Given the description of an element on the screen output the (x, y) to click on. 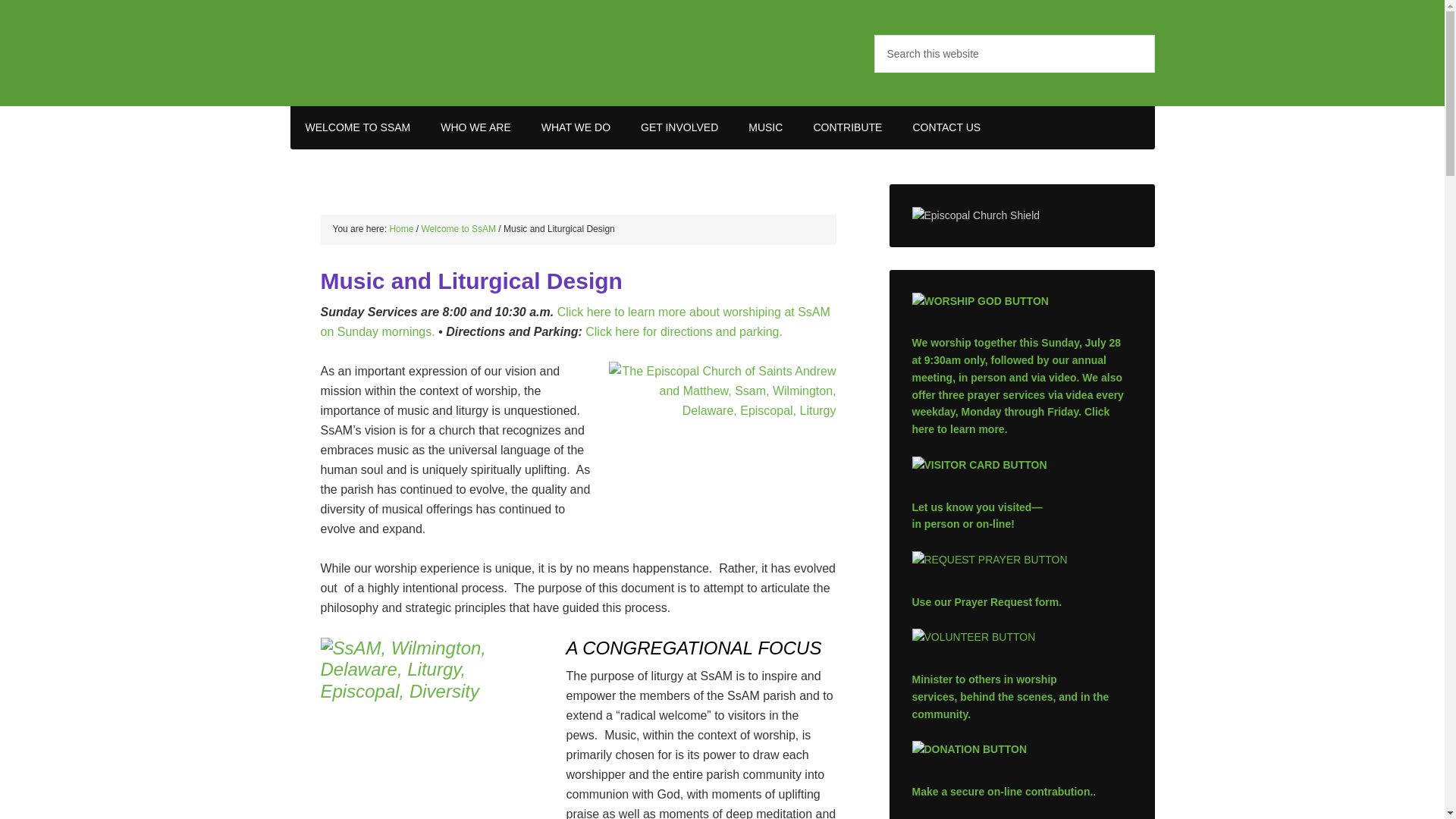
WHO WE ARE (475, 127)
WELCOME TO SSAM (357, 127)
WHAT WE DO (575, 127)
